Given the description of an element on the screen output the (x, y) to click on. 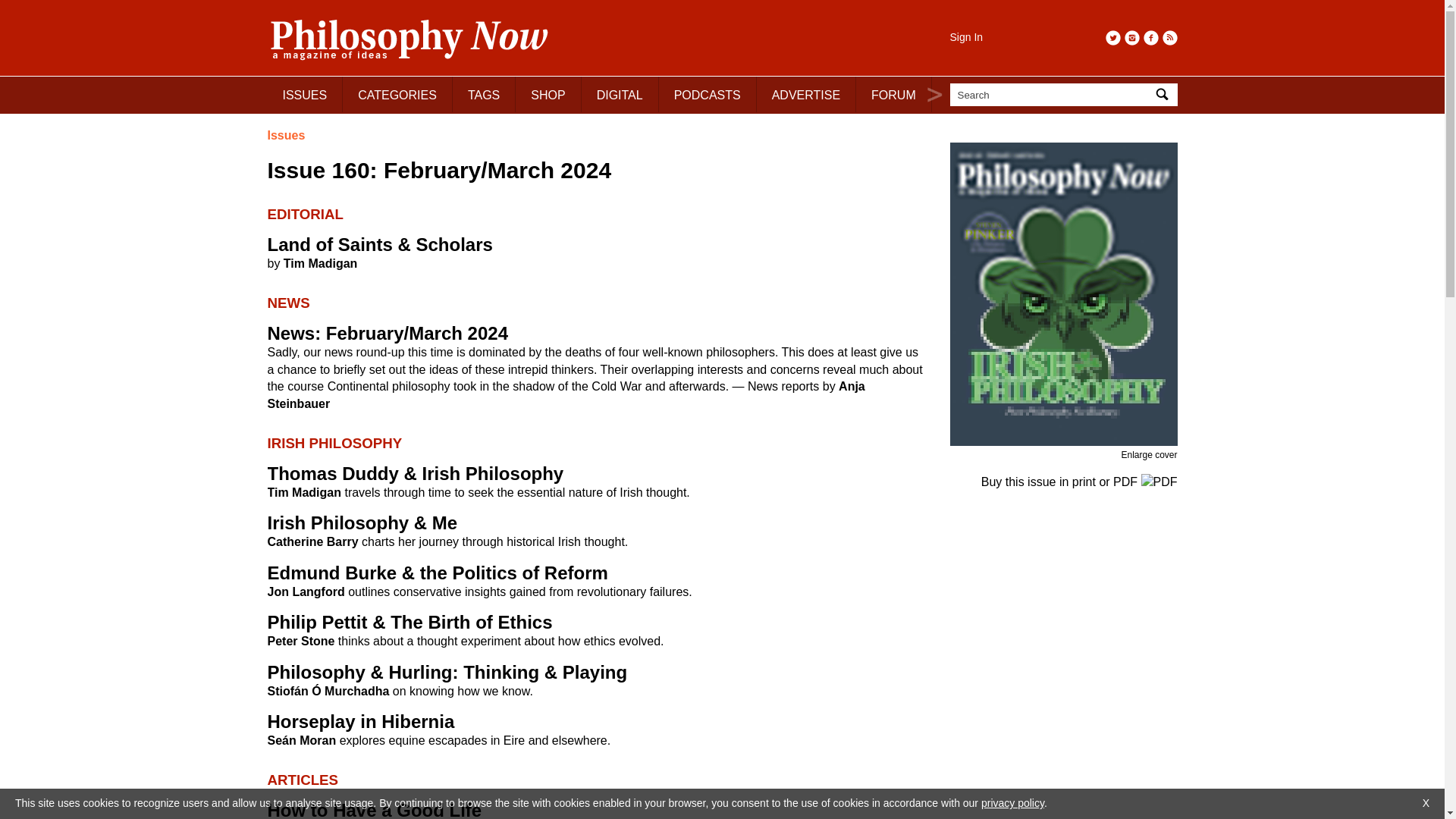
Instagram (1131, 37)
DIGITAL (619, 94)
Buy this issue in print or PDF (1079, 481)
ADVERTISE (806, 94)
SHOP (547, 94)
Enlarge cover (1148, 454)
Issues (285, 134)
PODCASTS (708, 94)
Horseplay in Hibernia (360, 721)
FORUM (893, 94)
